Given the description of an element on the screen output the (x, y) to click on. 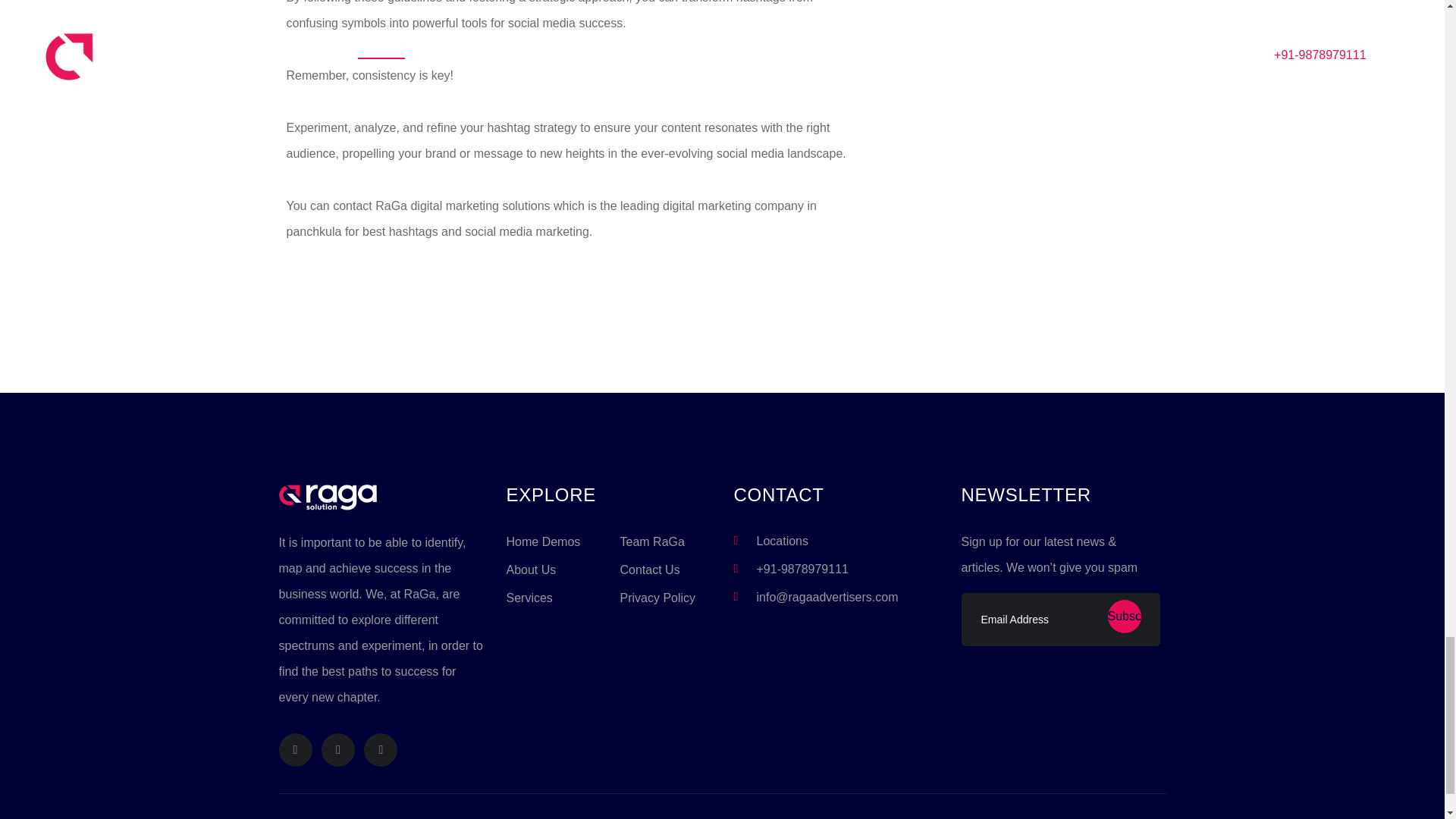
Subscribe (1123, 616)
Team RaGa (652, 541)
About Us (531, 569)
Contact Us (649, 569)
Privacy Policy (657, 597)
Services (529, 597)
Home Demos (543, 541)
Locations (783, 540)
